Given the description of an element on the screen output the (x, y) to click on. 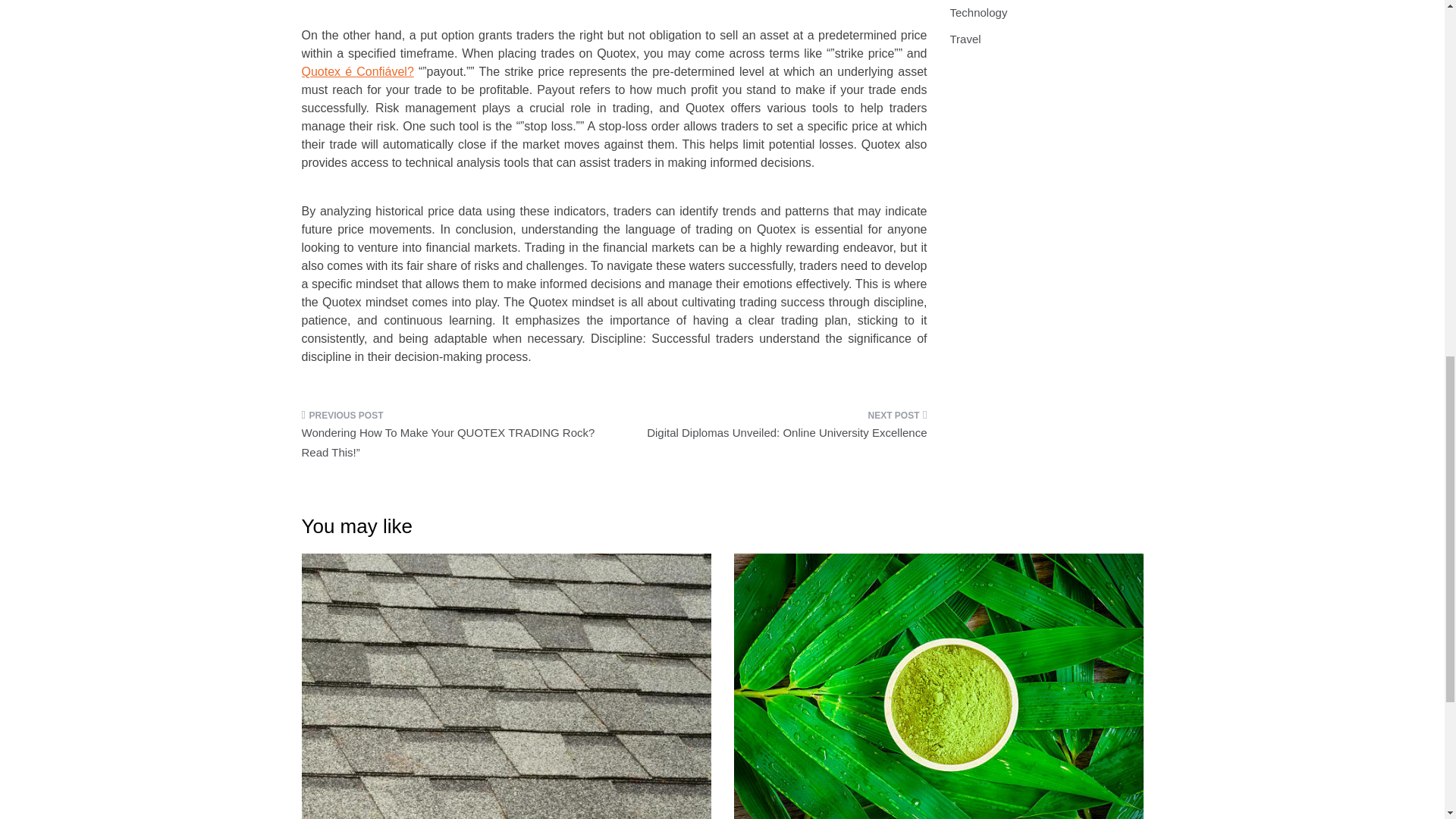
Technology (978, 11)
Digital Diplomas Unveiled: Online University Excellence (776, 428)
Travel (964, 38)
